Given the description of an element on the screen output the (x, y) to click on. 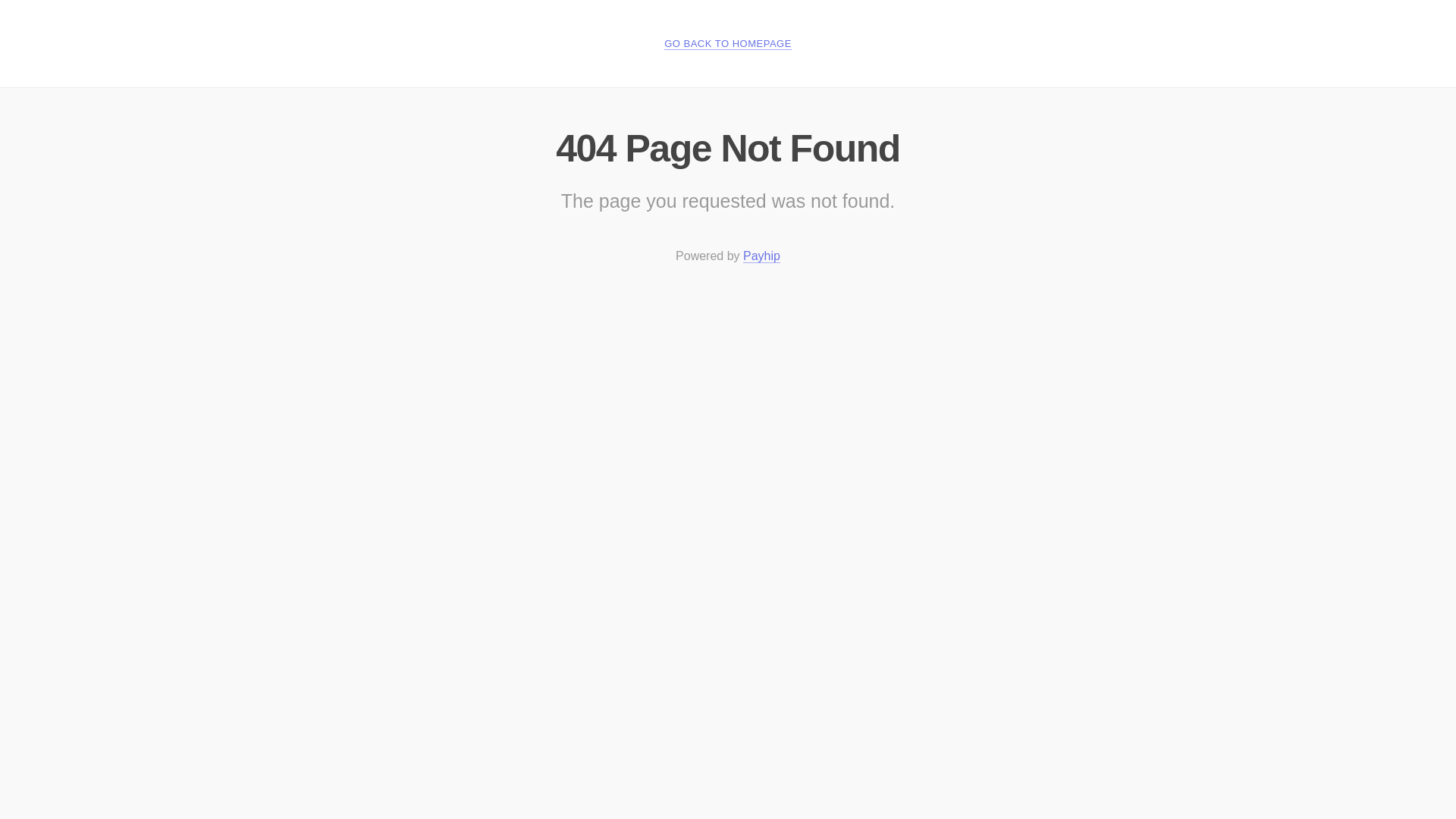
GO BACK TO HOMEPAGE (727, 43)
Payhip (761, 255)
